Given the description of an element on the screen output the (x, y) to click on. 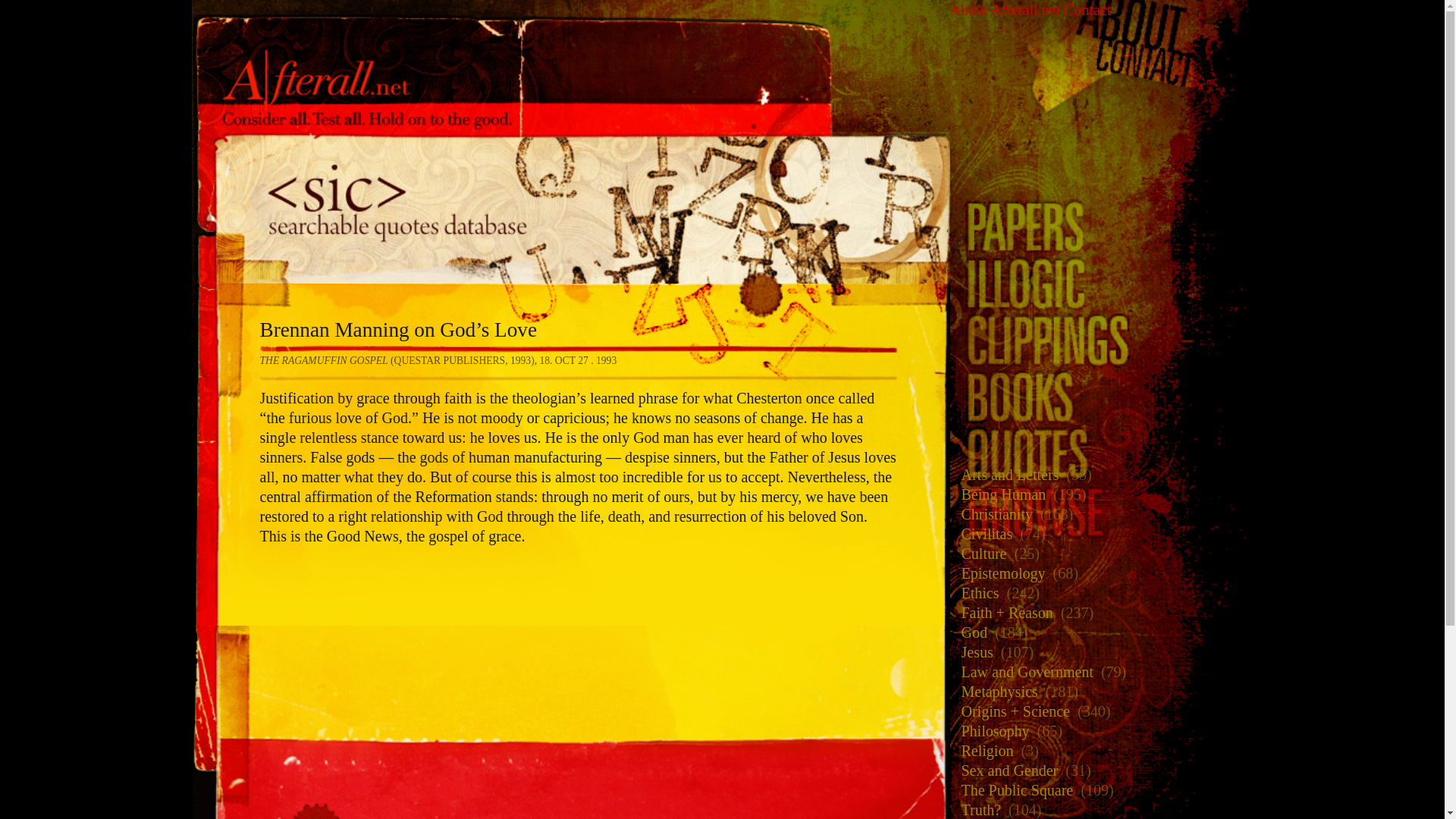
God (969, 630)
Books and Bibliography (1100, 333)
Christianity (992, 513)
Philosophy (990, 730)
Sex and Gender (1005, 769)
Culture (979, 552)
Jesus (972, 650)
The Public Square (1013, 789)
Ethics (976, 591)
Virtues and Values (1013, 818)
Epistemology (998, 572)
Law and Government (1022, 670)
Truth? (976, 808)
Contact (1087, 9)
Illogic Primer (1100, 219)
